Given the description of an element on the screen output the (x, y) to click on. 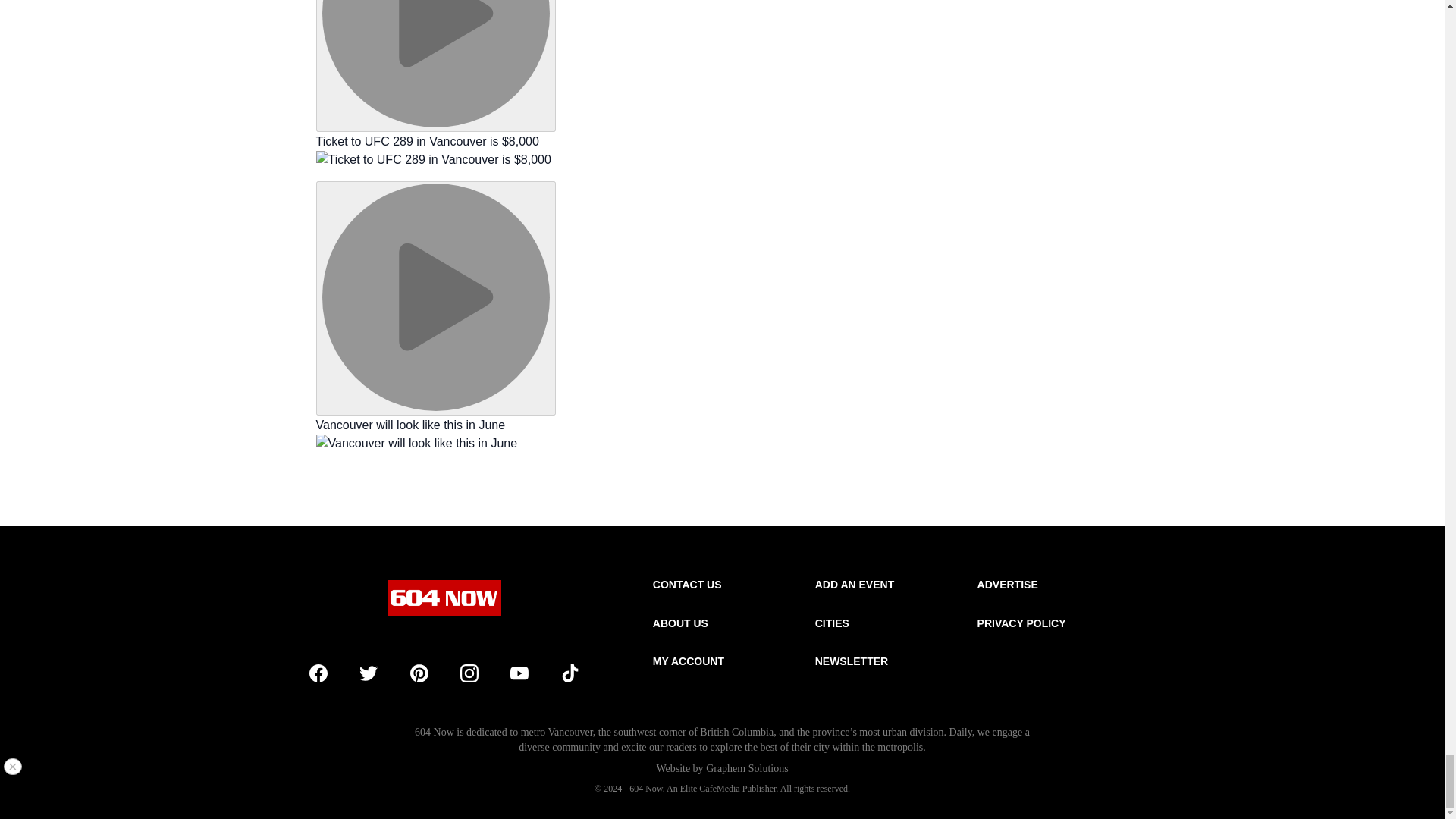
Web design and development in Vancouver, BC (747, 767)
